Given the description of an element on the screen output the (x, y) to click on. 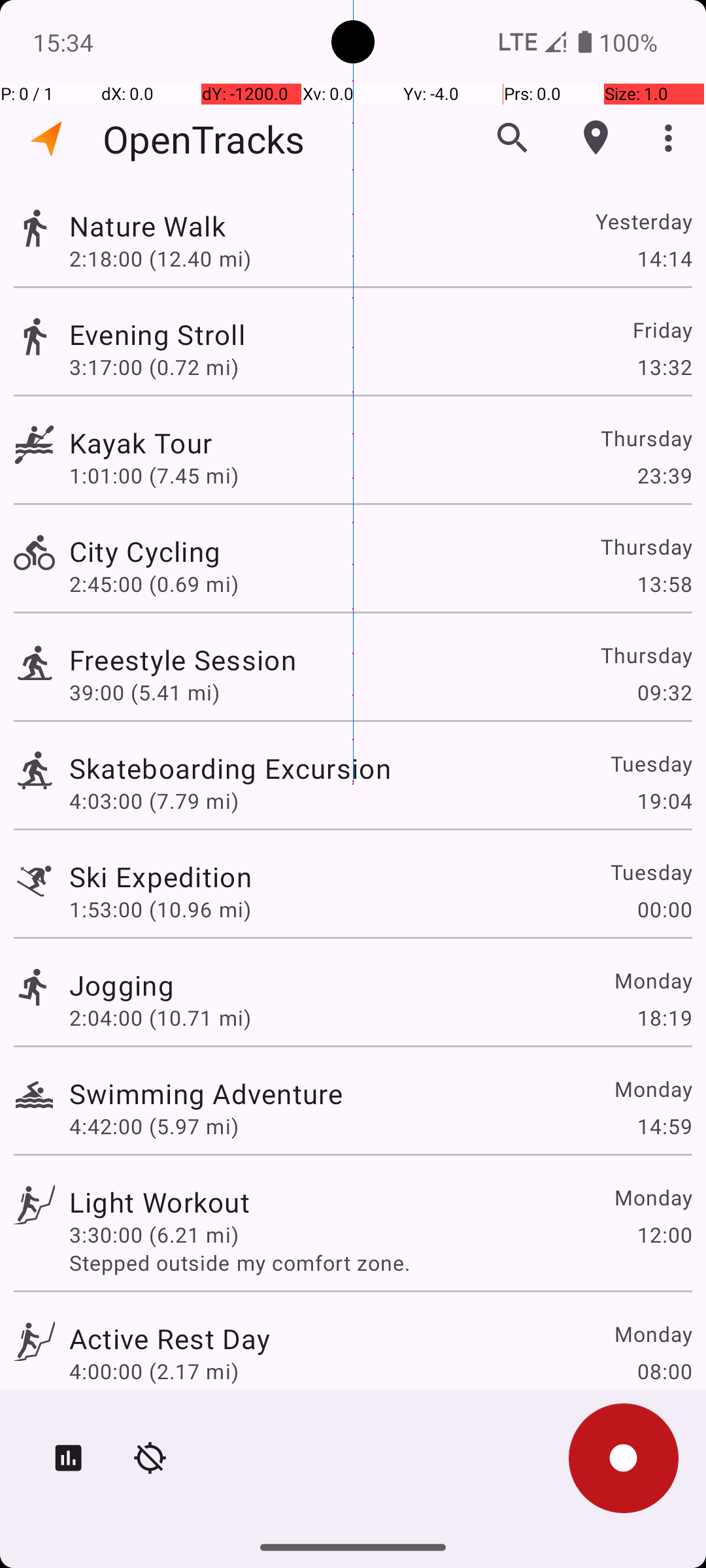
Nature Walk Element type: android.widget.TextView (147, 225)
2:18:00 (12.40 mi) Element type: android.widget.TextView (159, 258)
14:14 Element type: android.widget.TextView (664, 258)
Evening Stroll Element type: android.widget.TextView (156, 333)
3:17:00 (0.72 mi) Element type: android.widget.TextView (153, 366)
13:32 Element type: android.widget.TextView (664, 366)
Kayak Tour Element type: android.widget.TextView (140, 442)
1:01:00 (7.45 mi) Element type: android.widget.TextView (153, 475)
23:39 Element type: android.widget.TextView (664, 475)
City Cycling Element type: android.widget.TextView (144, 550)
2:45:00 (0.69 mi) Element type: android.widget.TextView (153, 583)
13:58 Element type: android.widget.TextView (664, 583)
Freestyle Session Element type: android.widget.TextView (182, 659)
39:00 (5.41 mi) Element type: android.widget.TextView (144, 692)
09:32 Element type: android.widget.TextView (664, 692)
Skateboarding Excursion Element type: android.widget.TextView (229, 767)
4:03:00 (7.79 mi) Element type: android.widget.TextView (153, 800)
19:04 Element type: android.widget.TextView (664, 800)
Ski Expedition Element type: android.widget.TextView (160, 876)
1:53:00 (10.96 mi) Element type: android.widget.TextView (159, 909)
00:00 Element type: android.widget.TextView (664, 909)
Jogging Element type: android.widget.TextView (121, 984)
2:04:00 (10.71 mi) Element type: android.widget.TextView (159, 1017)
18:19 Element type: android.widget.TextView (664, 1017)
Swimming Adventure Element type: android.widget.TextView (205, 1092)
4:42:00 (5.97 mi) Element type: android.widget.TextView (153, 1125)
14:59 Element type: android.widget.TextView (664, 1125)
Light Workout Element type: android.widget.TextView (159, 1201)
3:30:00 (6.21 mi) Element type: android.widget.TextView (153, 1234)
Stepped outside my comfort zone. Element type: android.widget.TextView (380, 1262)
Active Rest Day Element type: android.widget.TextView (169, 1337)
4:00:00 (2.17 mi) Element type: android.widget.TextView (153, 1370)
Showed resilience in the face of adversity. Element type: android.widget.TextView (380, 1399)
